Given the description of an element on the screen output the (x, y) to click on. 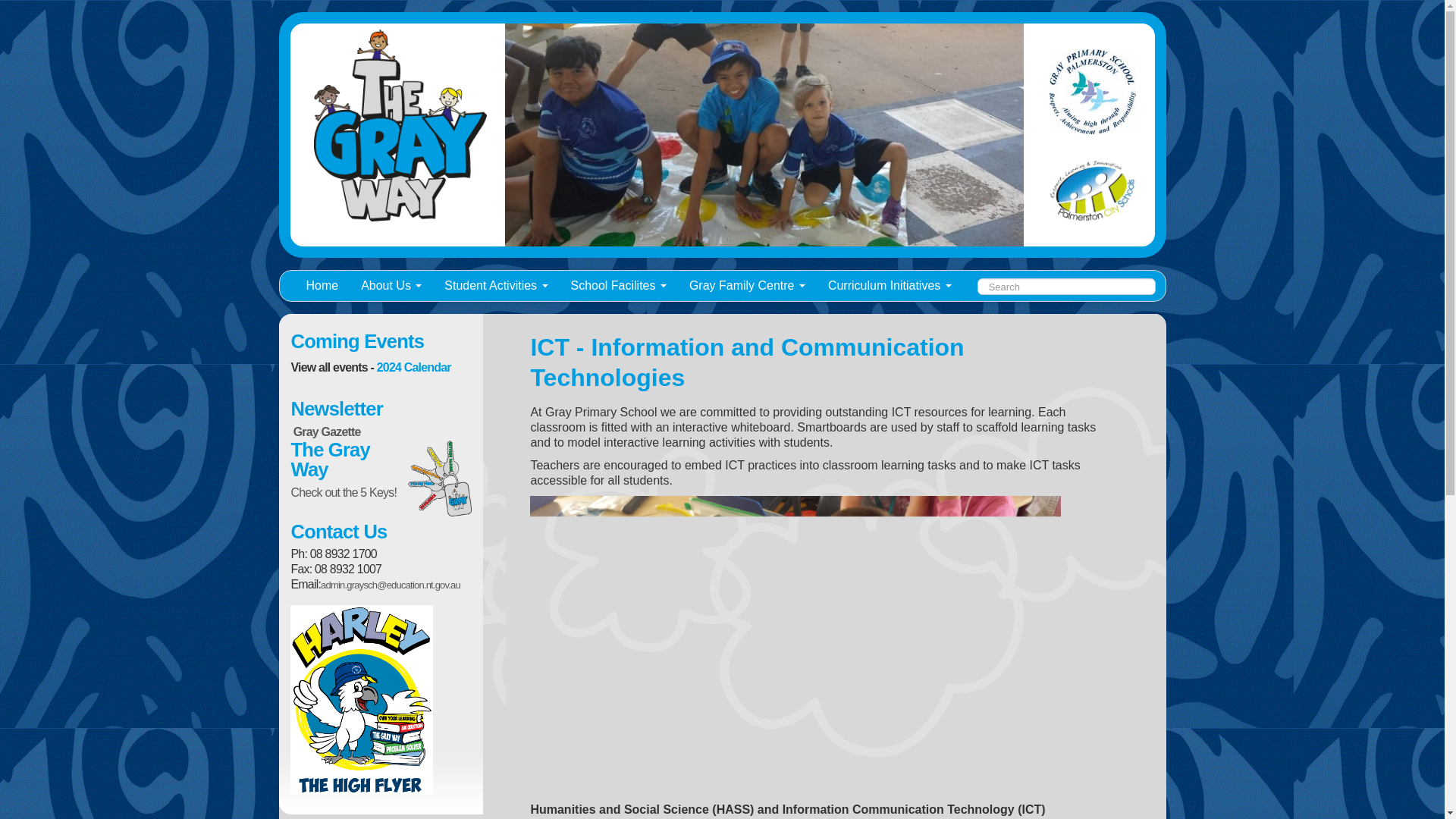
School Facilites (618, 286)
Student Activities (495, 286)
About Us (390, 286)
Home (321, 286)
Gray Family Centre (747, 286)
